Given the description of an element on the screen output the (x, y) to click on. 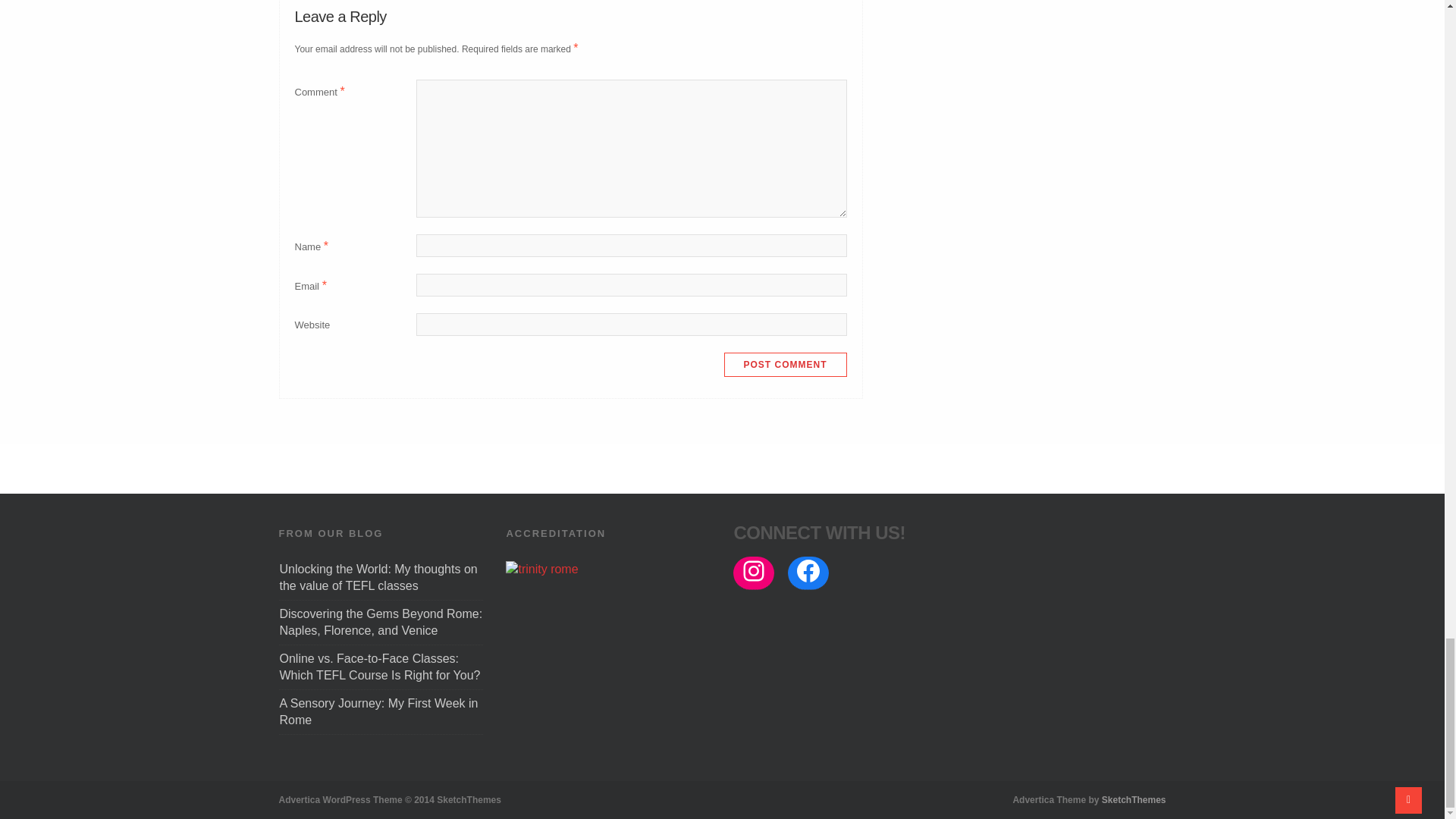
Sketch Themes (1134, 799)
Accreditation (541, 568)
Post Comment (784, 364)
